Given the description of an element on the screen output the (x, y) to click on. 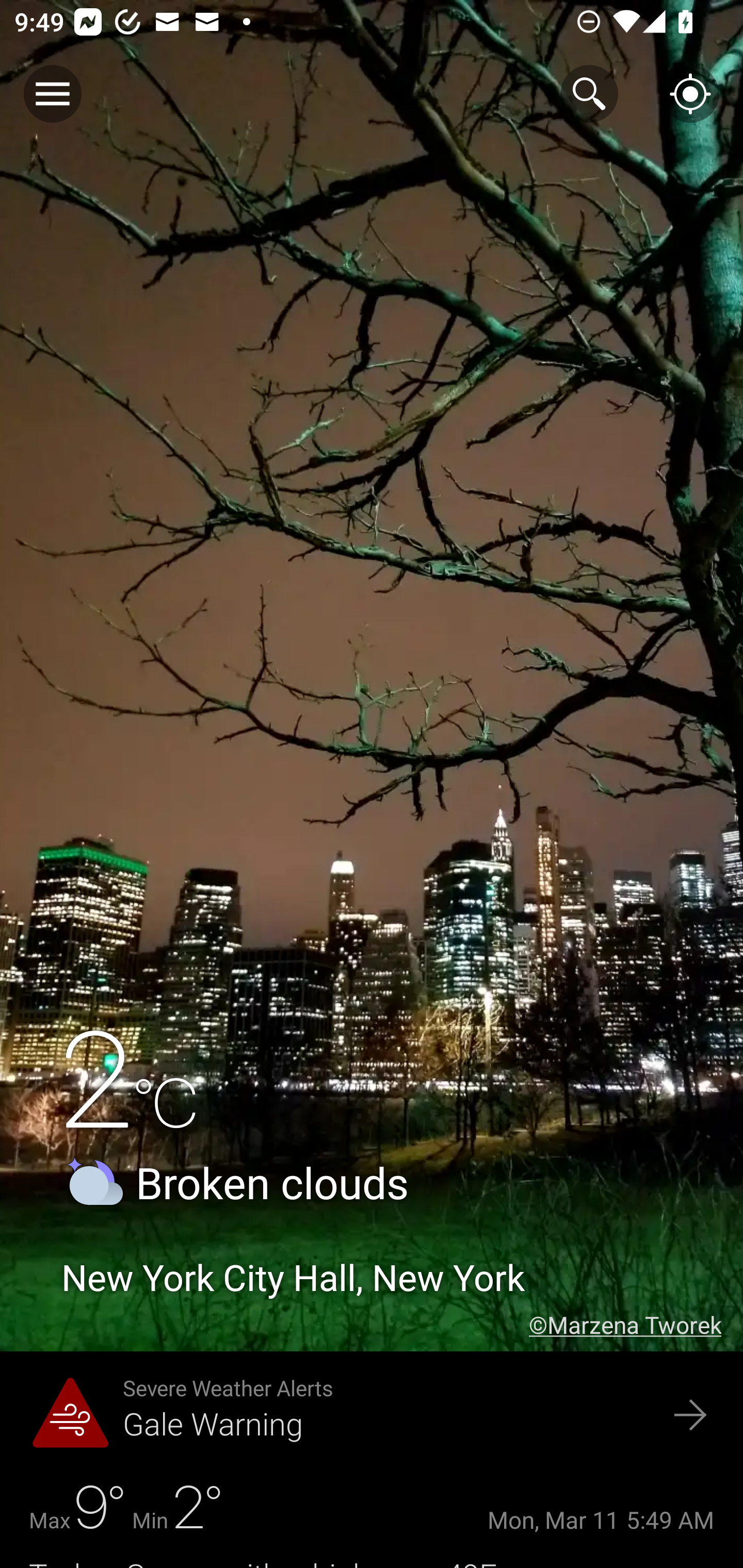
©Marzena Tworek (635, 1324)
Severe Weather Alerts Gale Warning  (371, 1416)
